Given the description of an element on the screen output the (x, y) to click on. 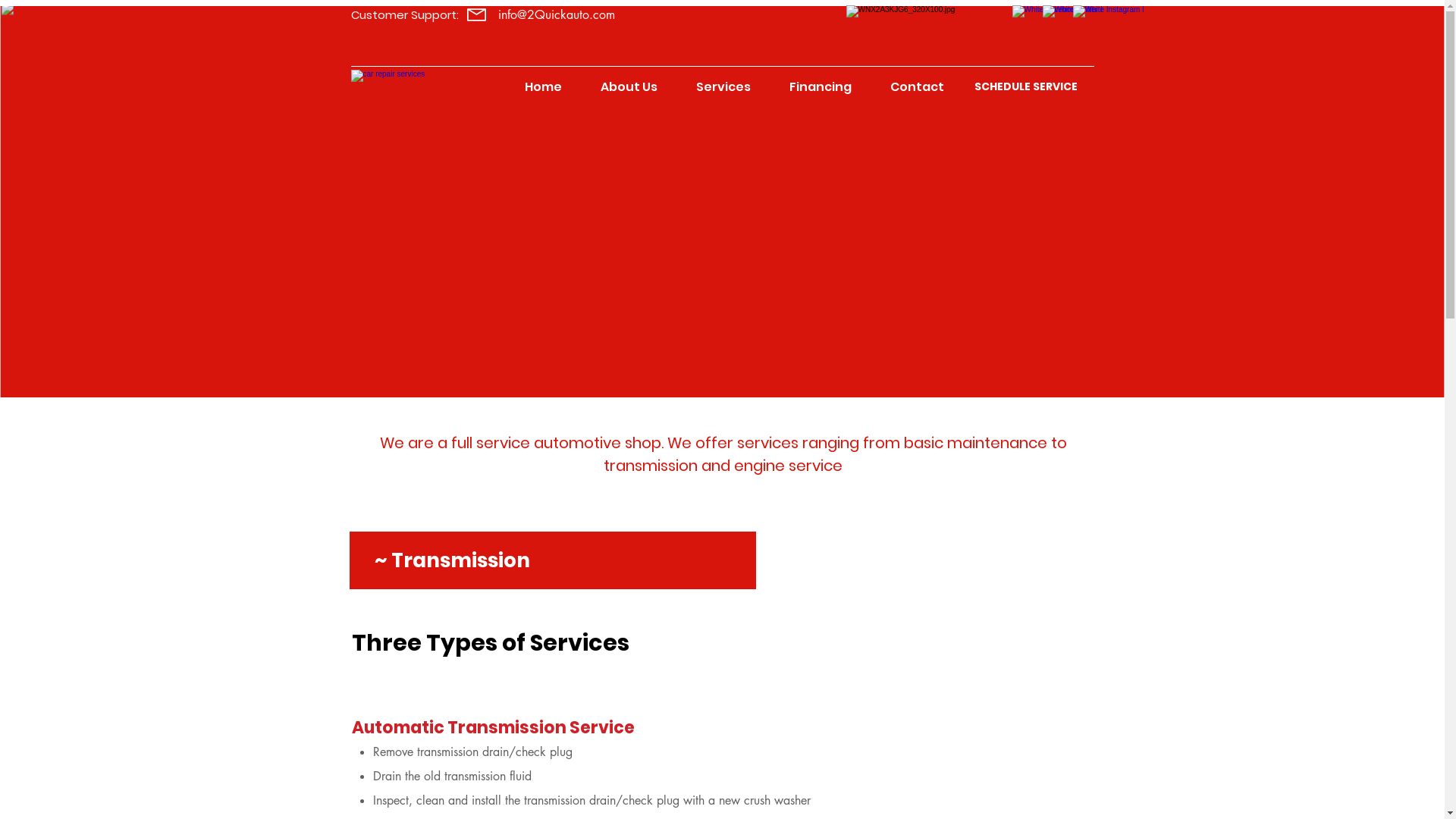
SCHEDULE SERVICE Element type: text (1025, 86)
Contact Element type: text (916, 87)
info@2Quickauto.com Element type: text (555, 14)
Home Element type: text (542, 87)
About Us Element type: text (628, 87)
Financing Element type: text (820, 87)
